Given the description of an element on the screen output the (x, y) to click on. 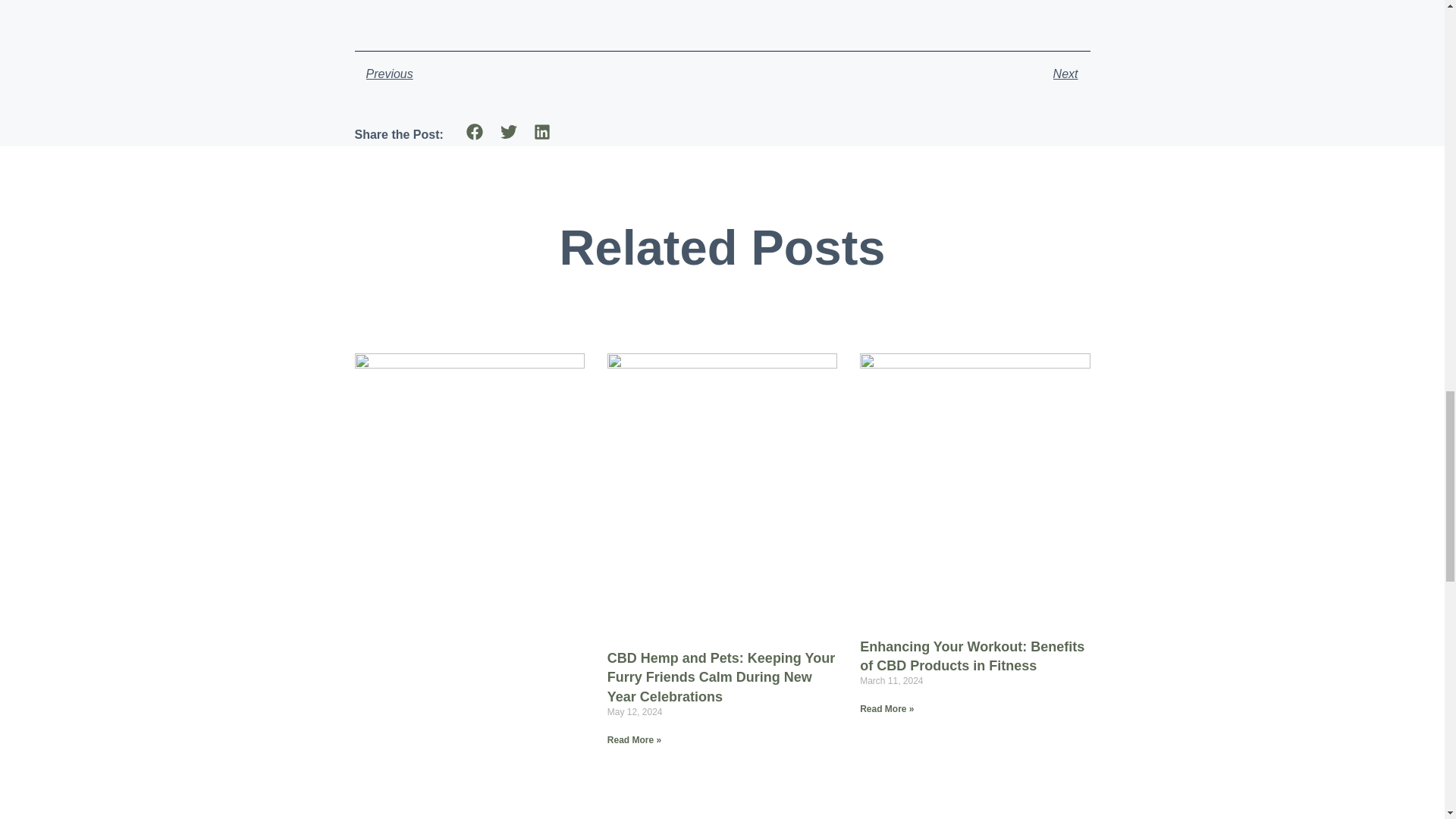
Enhancing Your Workout: Benefits of CBD Products in Fitness (538, 74)
